Given the description of an element on the screen output the (x, y) to click on. 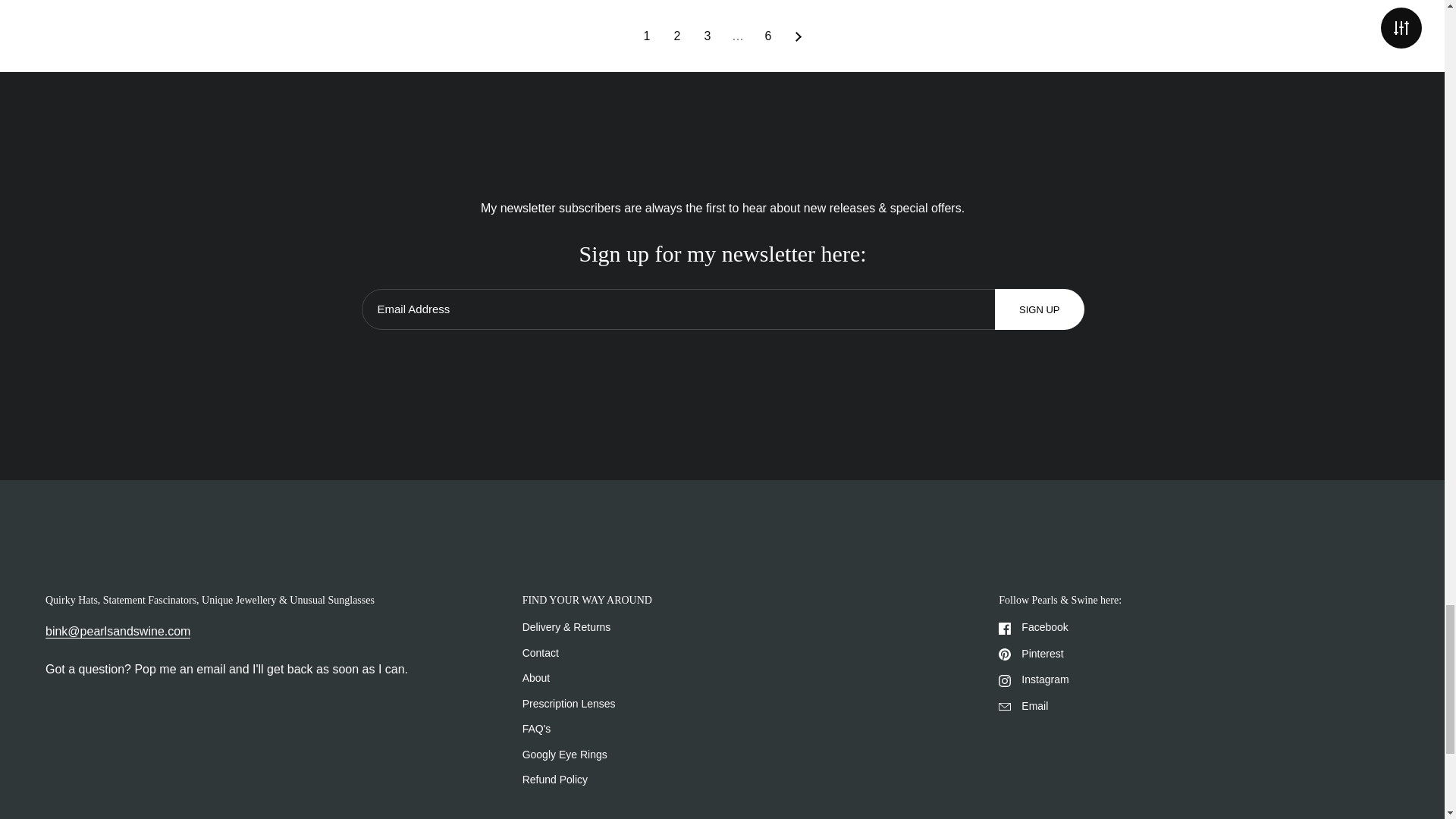
SIGN UP (1039, 309)
Contact (117, 631)
